Given the description of an element on the screen output the (x, y) to click on. 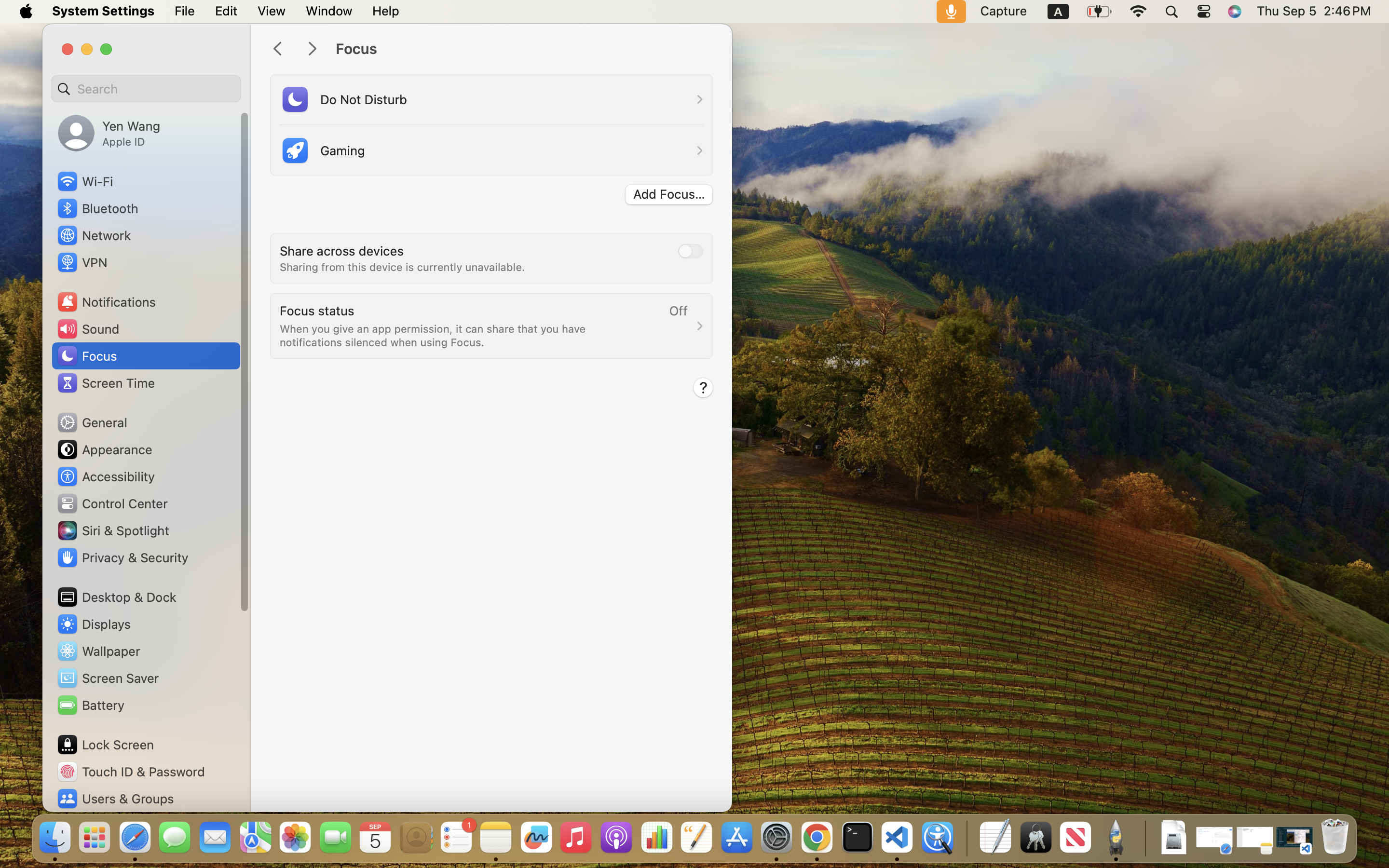
Appearance Element type: AXStaticText (103, 449)
Control Center Element type: AXStaticText (111, 503)
Share across devices Element type: AXStaticText (341, 250)
Touch ID & Password Element type: AXStaticText (130, 771)
